Given the description of an element on the screen output the (x, y) to click on. 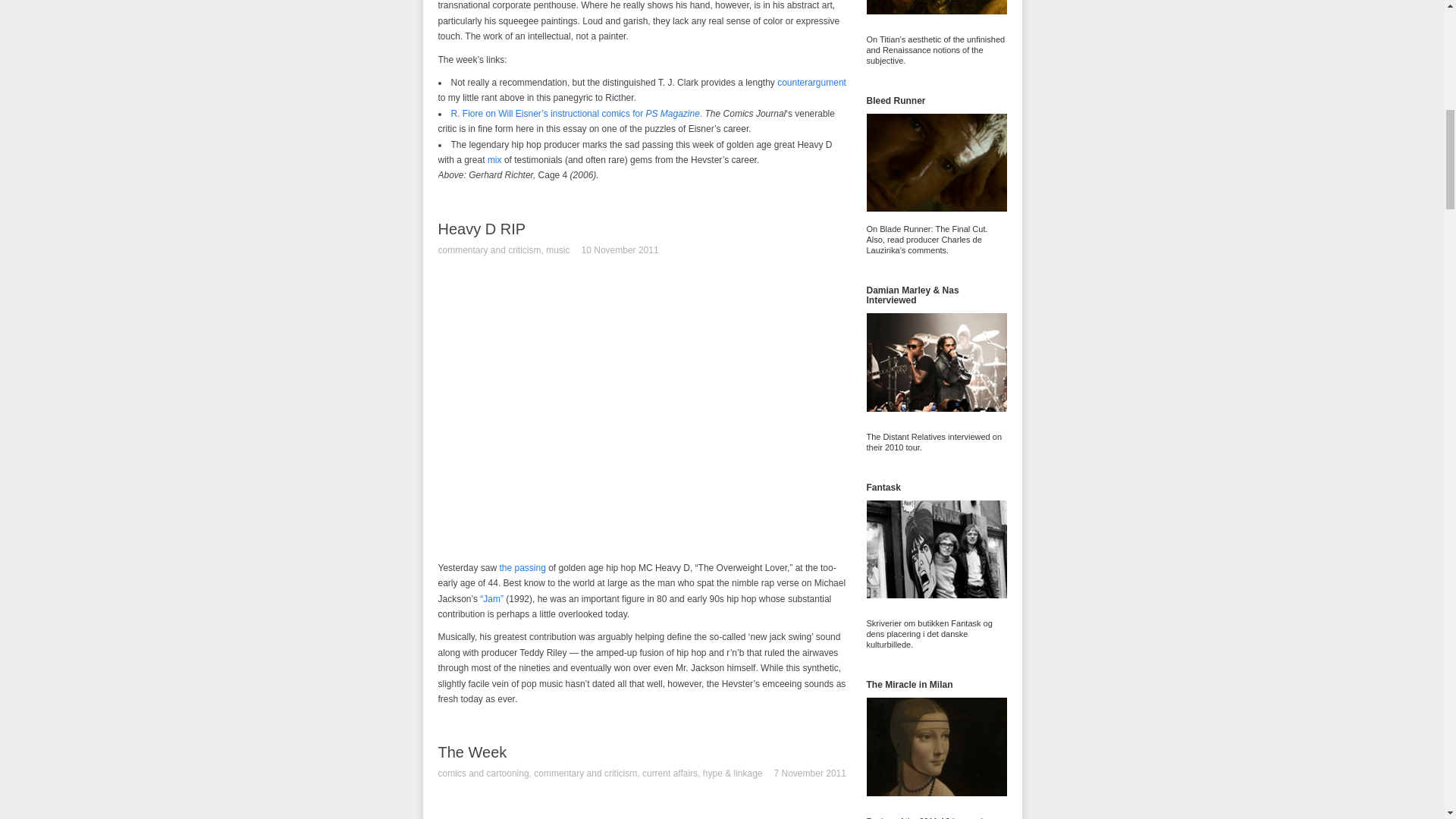
the passing (521, 567)
Heavy D RIP (481, 228)
current affairs (669, 773)
counterargument (811, 81)
commentary and criticism (489, 250)
comics and cartooning (483, 773)
Heavy D RIP (481, 228)
The Week (472, 751)
commentary and criticism (585, 773)
10 November 2011 (619, 250)
01:57 (809, 773)
04:11 (619, 250)
mix (494, 159)
The Week (472, 751)
music (557, 250)
